Given the description of an element on the screen output the (x, y) to click on. 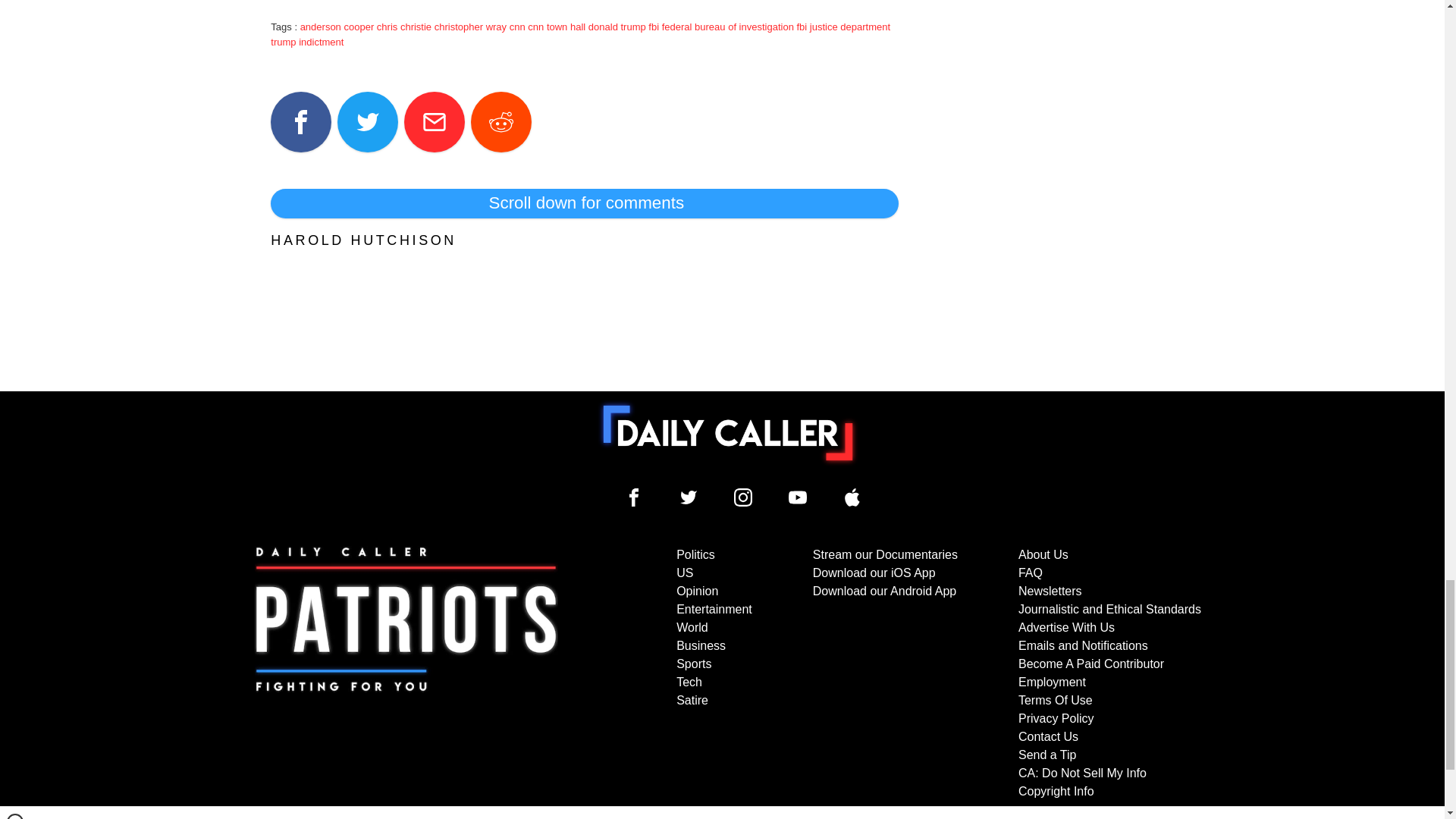
Daily Caller Instagram (742, 497)
Daily Caller Facebook (633, 497)
Daily Caller Twitter (688, 497)
Daily Caller YouTube (797, 497)
Daily Caller YouTube (852, 497)
Subscribe to The Daily Caller (405, 673)
To home page (727, 432)
Scroll down for comments (584, 203)
